Given the description of an element on the screen output the (x, y) to click on. 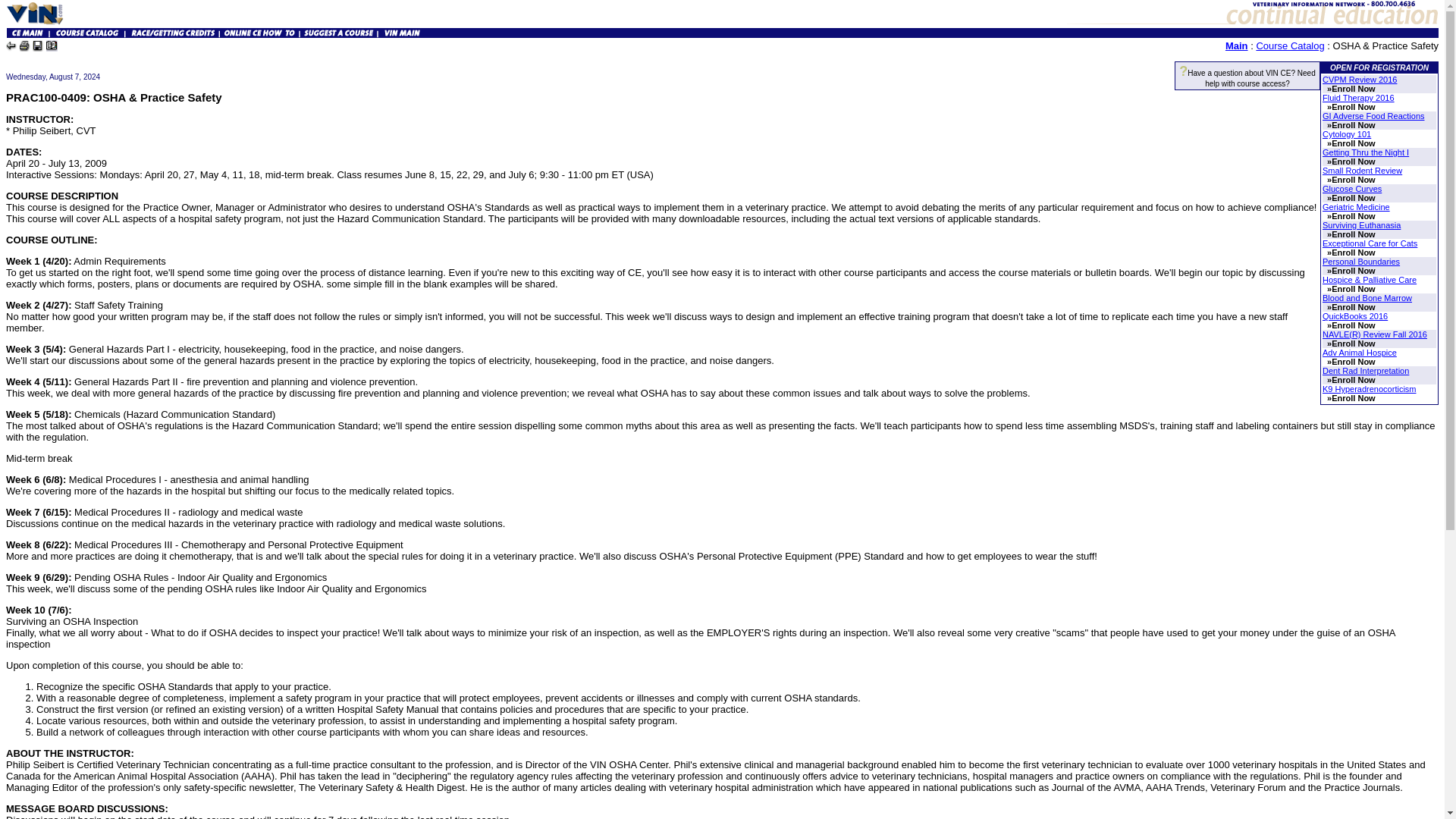
Enroll Now (1353, 234)
CVPM Review 2016 (1359, 79)
GI Adverse Food Reactions (1373, 115)
Enroll Now (1353, 215)
Cytology 101 (1346, 133)
Blood and Bone Marrow (1367, 297)
Enroll Now (1353, 124)
Adv Animal Hospice (1359, 352)
Getting Thru the Night I (1365, 152)
Course Catalog (1289, 45)
Geriatric Medicine (1356, 206)
Enroll Now (1353, 288)
Enroll Now (1353, 197)
Enroll Now (1353, 106)
QuickBooks 2016 (1354, 316)
